Given the description of an element on the screen output the (x, y) to click on. 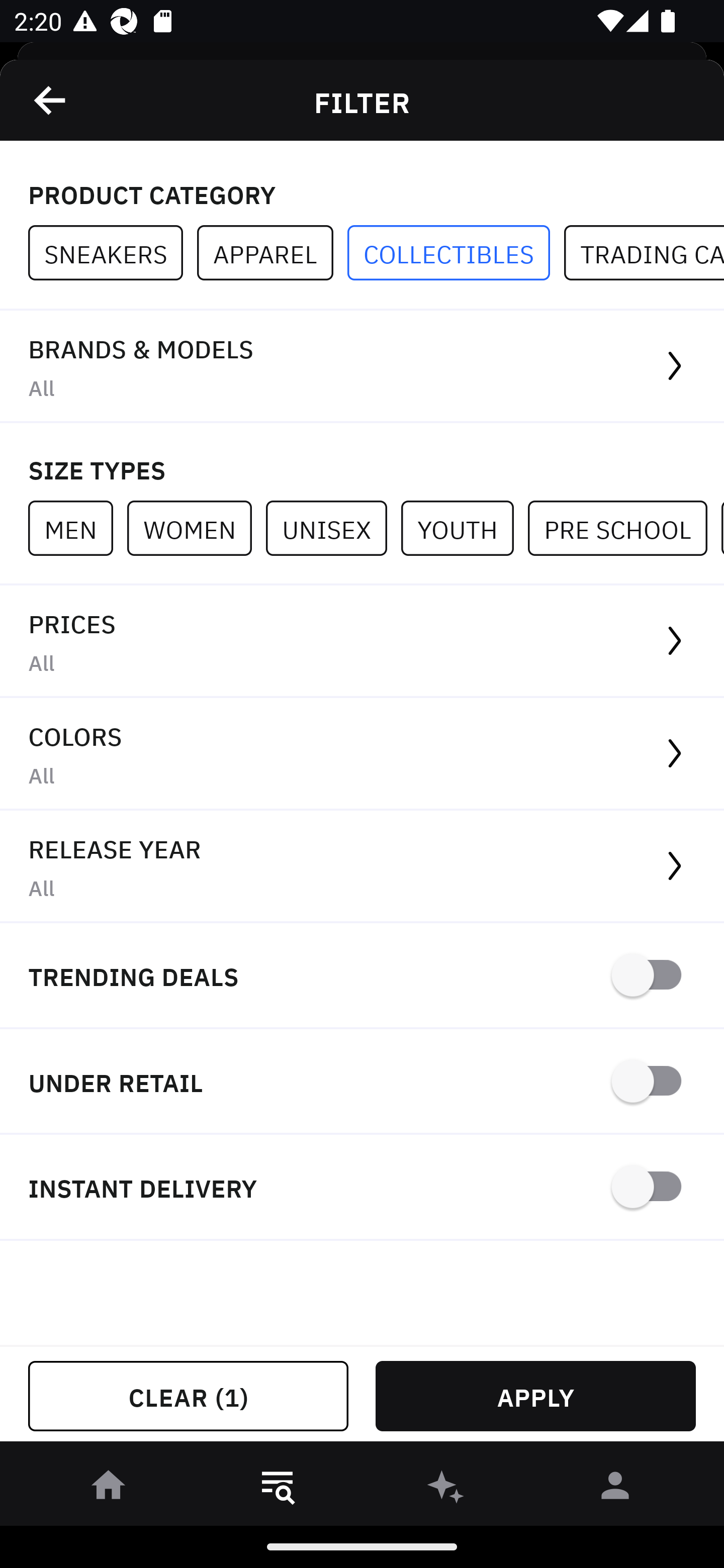
 (50, 100)
SNEAKERS (112, 252)
APPAREL (271, 252)
COLLECTIBLES (455, 252)
TRADING CARDS (643, 252)
BRANDS & MODELS All (362, 366)
MEN (77, 527)
WOMEN (196, 527)
UNISEX (333, 527)
YOUTH (464, 527)
PRE SCHOOL (624, 527)
PRICES All (362, 640)
COLORS All (362, 753)
RELEASE YEAR All (362, 866)
TRENDING DEALS (362, 975)
UNDER RETAIL (362, 1081)
INSTANT DELIVERY (362, 1187)
CLEAR (1) (188, 1396)
APPLY (535, 1396)
󰋜 (108, 1488)
󱎸 (277, 1488)
󰫢 (446, 1488)
󰀄 (615, 1488)
